Given the description of an element on the screen output the (x, y) to click on. 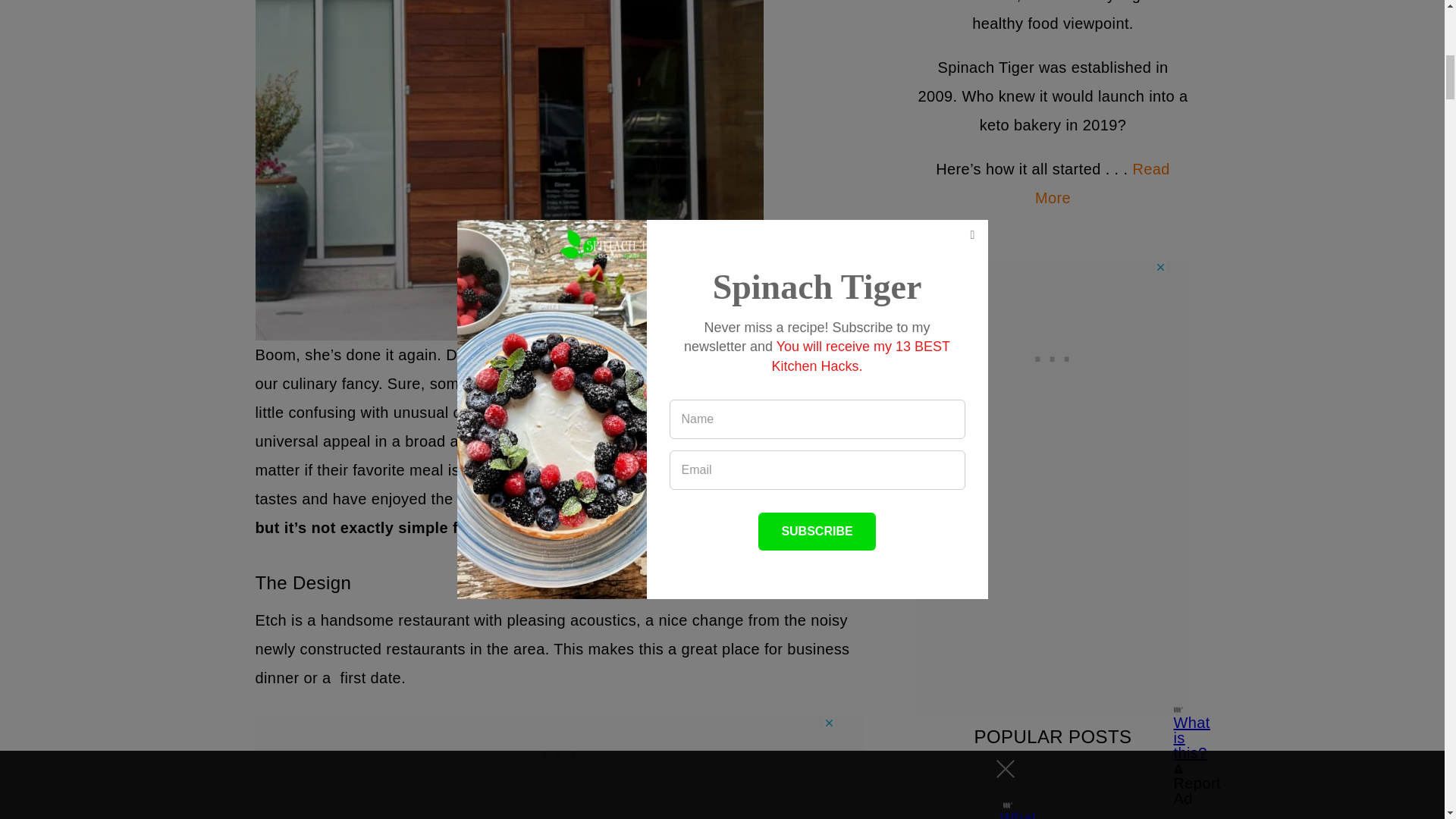
3rd party ad content (1052, 355)
3rd party ad content (559, 750)
